Given the description of an element on the screen output the (x, y) to click on. 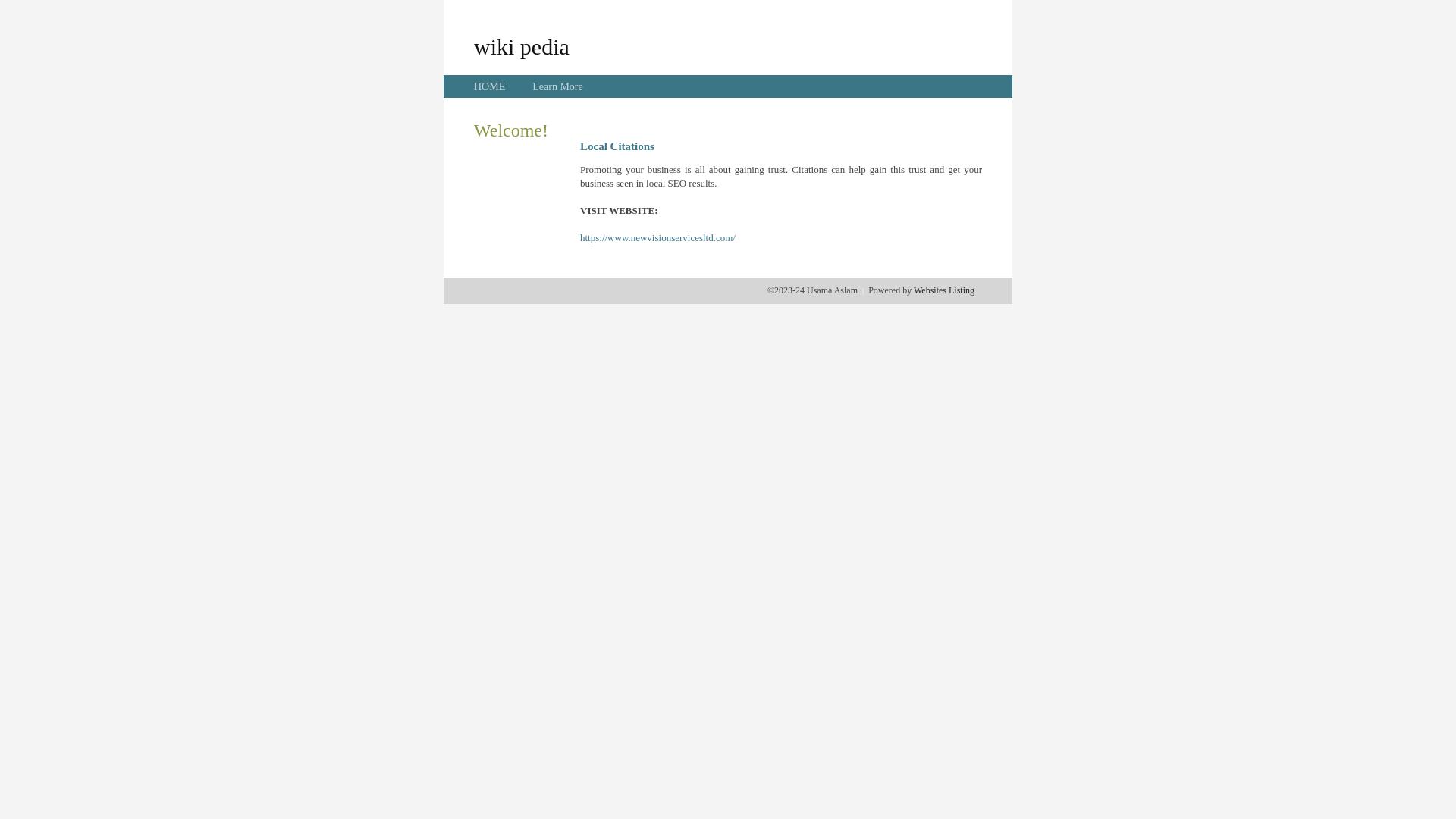
https://www.newvisionservicesltd.com/ Element type: text (657, 237)
HOME Element type: text (489, 86)
wiki pedia Element type: text (521, 46)
Learn More Element type: text (557, 86)
Websites Listing Element type: text (943, 290)
